Given the description of an element on the screen output the (x, y) to click on. 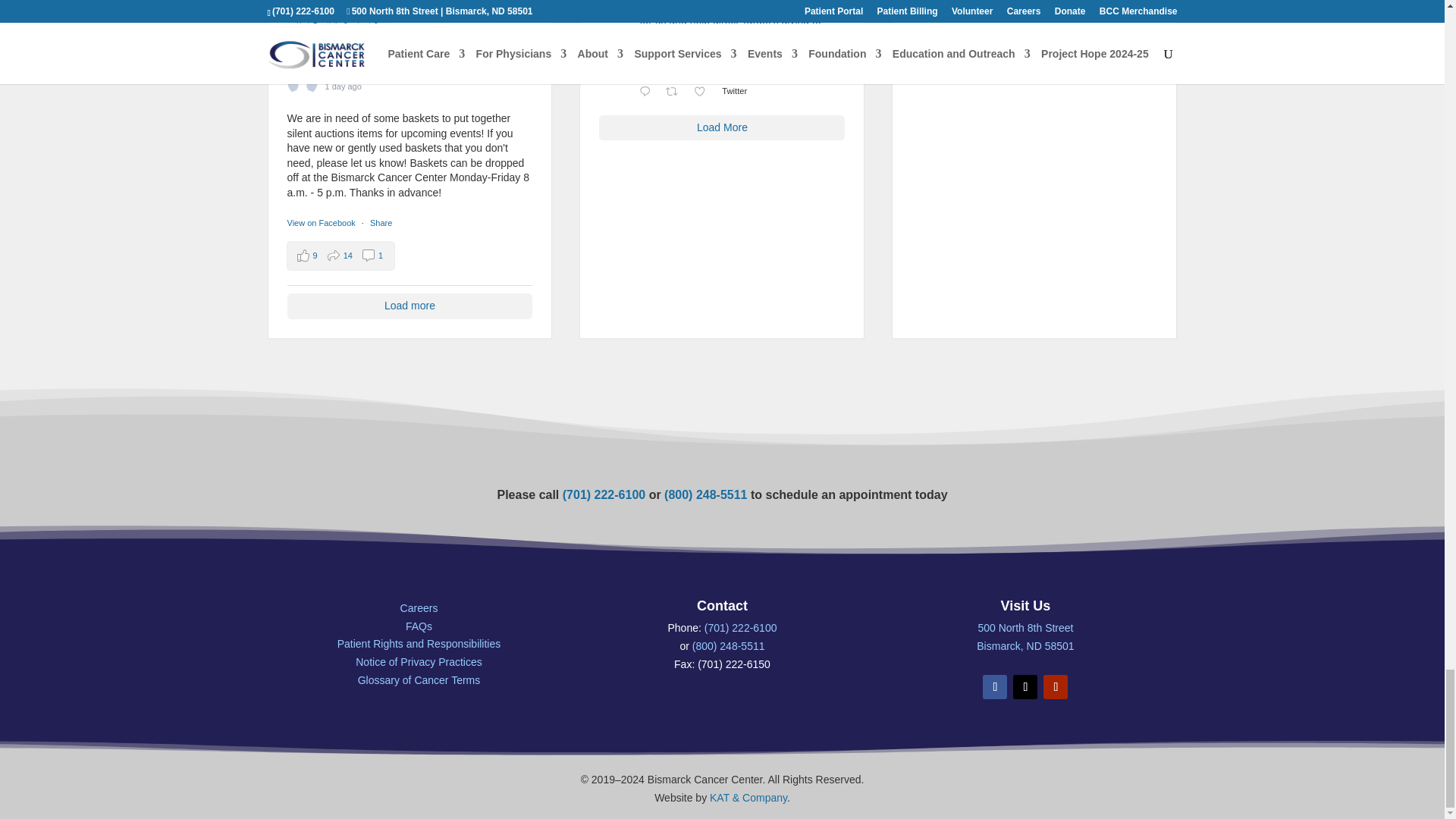
View on Facebook (321, 222)
Share (380, 222)
